Given the description of an element on the screen output the (x, y) to click on. 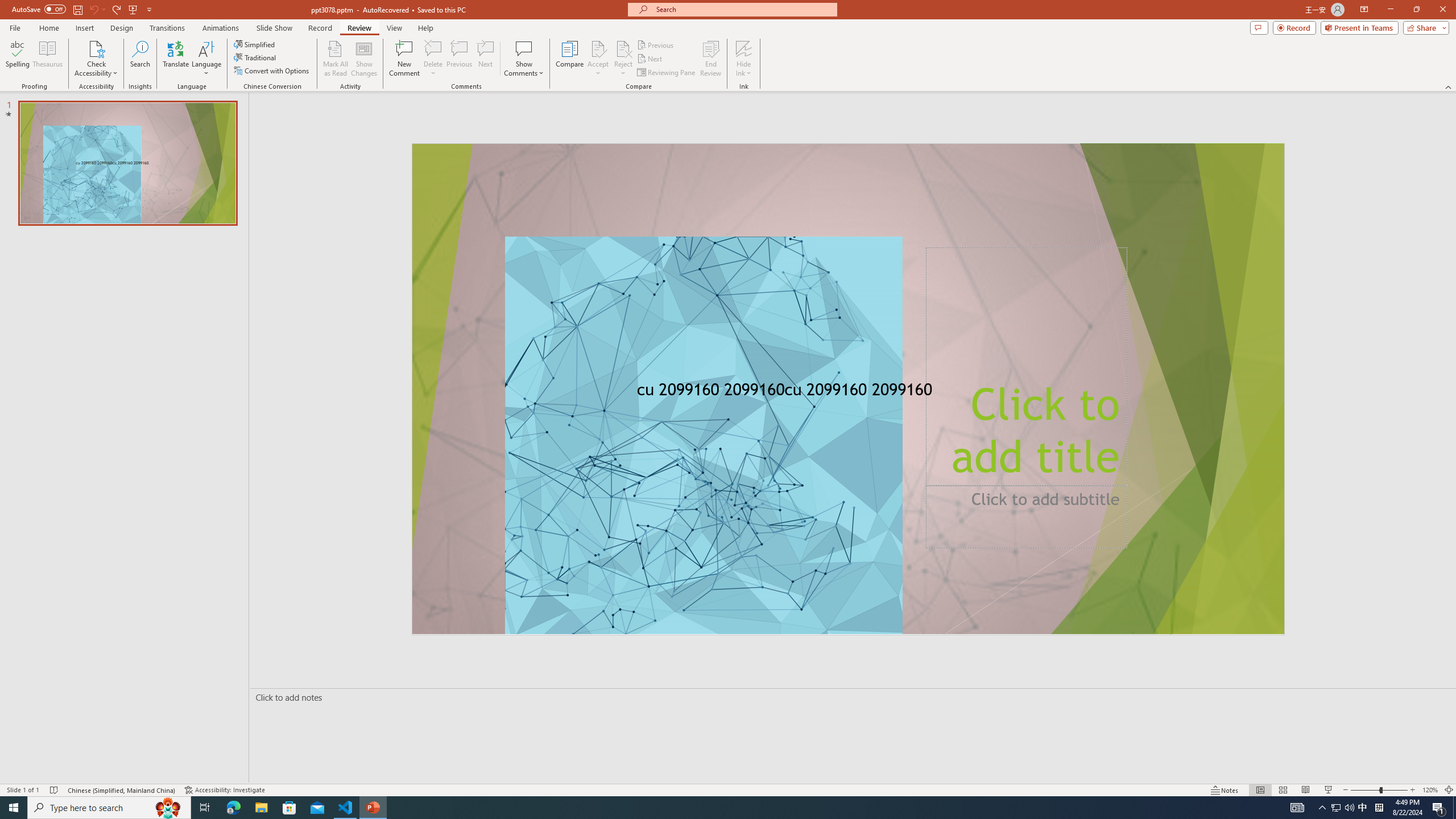
Reviewing Pane (666, 72)
Mark All as Read (335, 58)
